Given the description of an element on the screen output the (x, y) to click on. 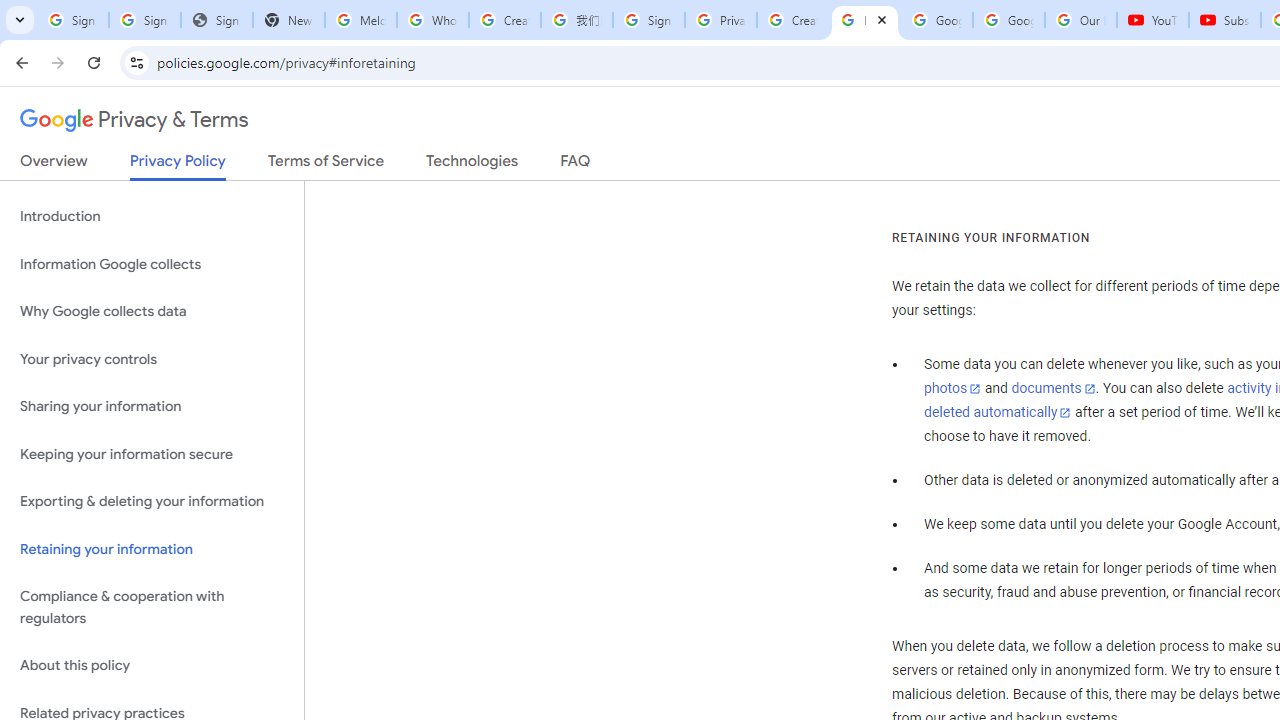
Your privacy controls (152, 358)
Subscriptions - YouTube (1224, 20)
Google Account (1008, 20)
photos (952, 389)
Technologies (472, 165)
Retaining your information (152, 548)
Exporting & deleting your information (152, 502)
Create your Google Account (792, 20)
FAQ (575, 165)
documents (1053, 389)
